Given the description of an element on the screen output the (x, y) to click on. 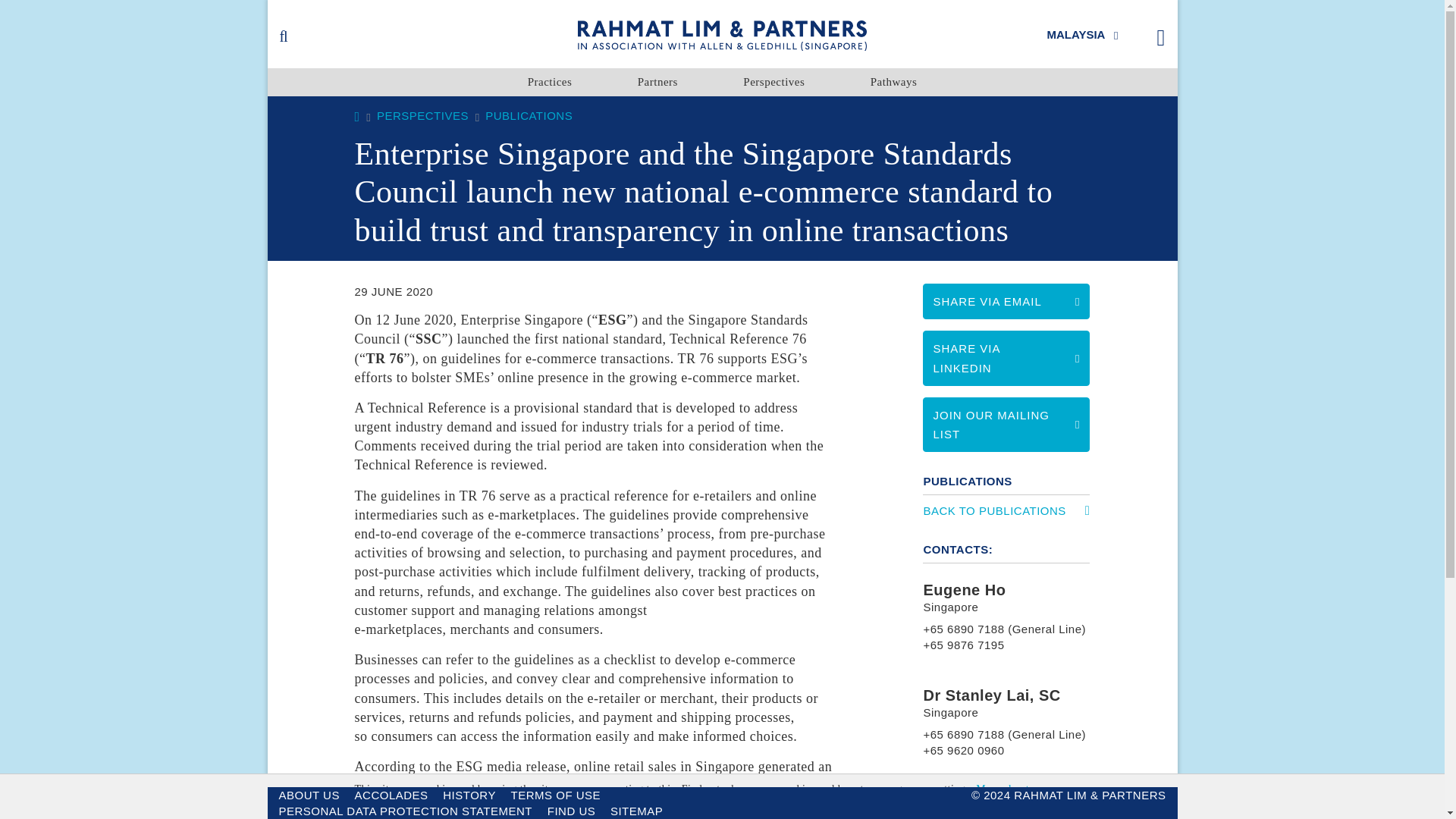
Practices (549, 81)
MALAYSIA (1081, 33)
